Given the description of an element on the screen output the (x, y) to click on. 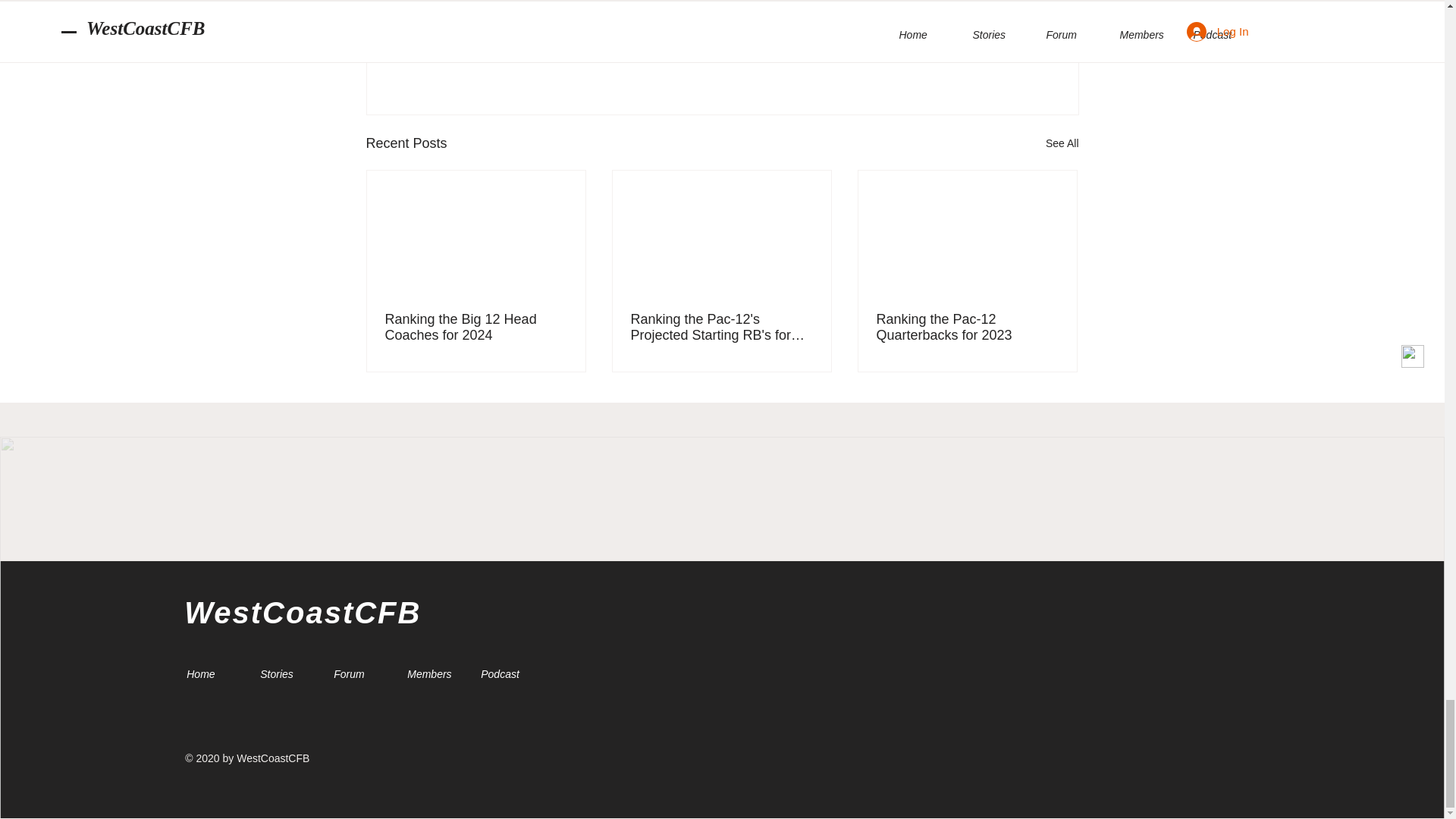
Podcast (505, 673)
See All (1061, 143)
Featured (981, 46)
Stories (284, 673)
Ranking the Pac-12's Projected Starting RB's for 2023 (721, 327)
Forum (358, 673)
Home (211, 673)
Twitter Follow (322, 710)
Ranking the Big 12 Head Coaches for 2024 (476, 327)
Ranking the Pac-12 Quarterbacks for 2023 (967, 327)
